Given the description of an element on the screen output the (x, y) to click on. 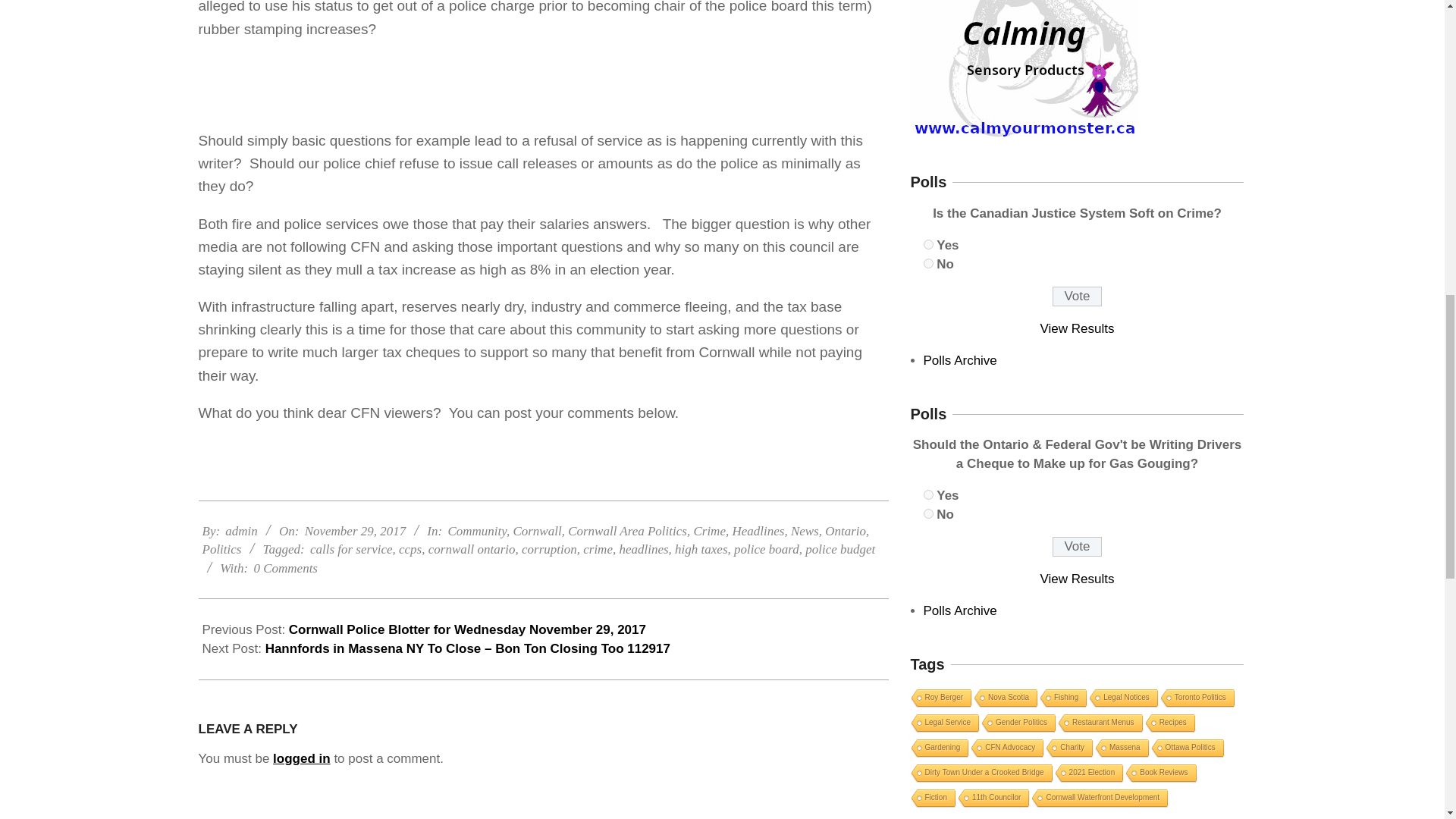
   Vote    (1076, 546)
View Results Of This Poll (1078, 328)
1763 (928, 513)
Wednesday, November 29, 2017, 9:47 am (355, 531)
1754 (928, 244)
1762 (928, 494)
   Vote    (1076, 296)
View Results Of This Poll (1078, 578)
1755 (928, 263)
Posts by admin (241, 531)
